Given the description of an element on the screen output the (x, y) to click on. 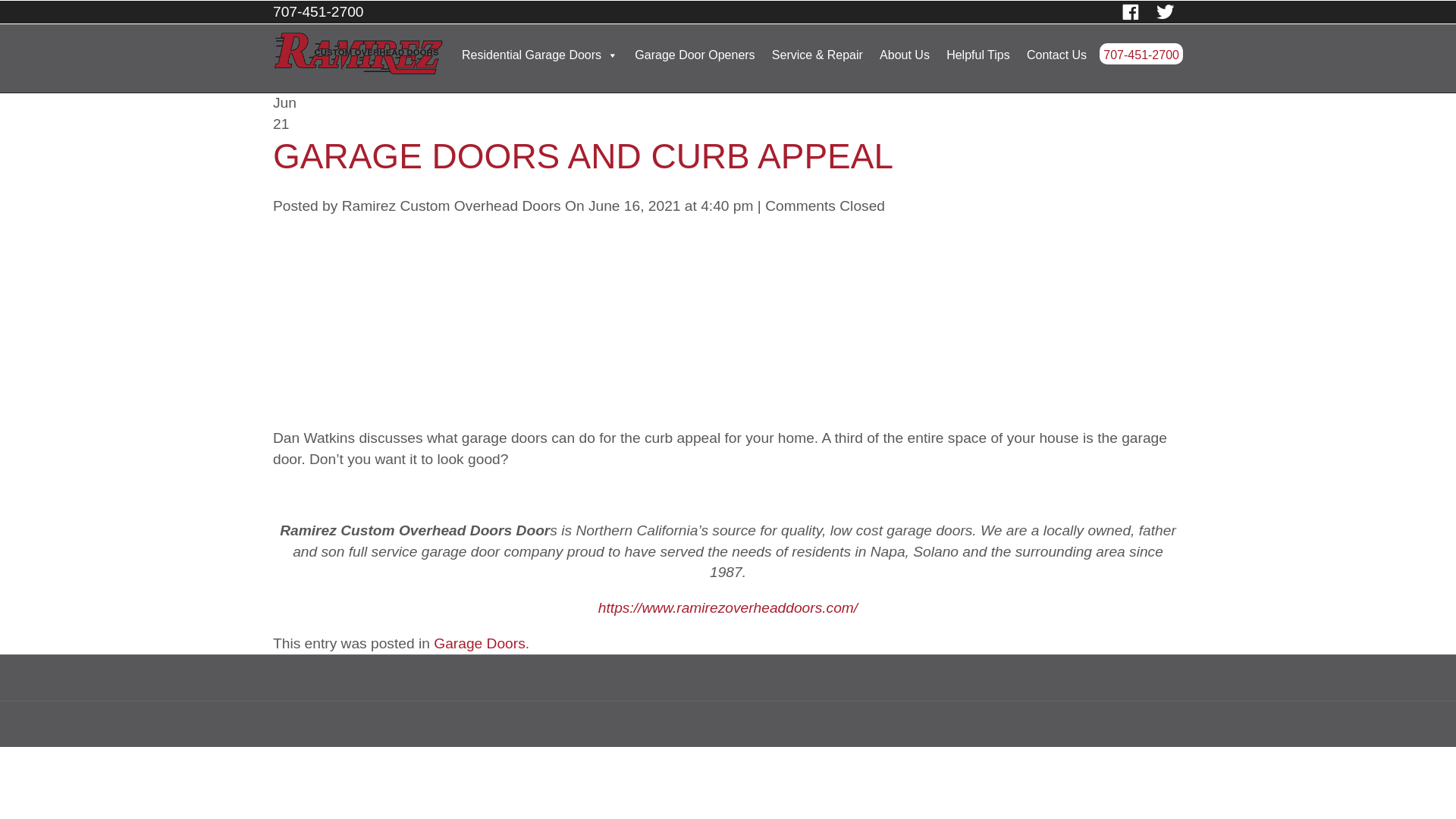
Helpful Tips (977, 53)
Residential Garage Doors (539, 53)
707-451-2700 (1140, 53)
Garage Doors (479, 643)
Click to Call (1140, 53)
Garage Door Openers (694, 53)
Contact Us (1056, 53)
707-451-2700 (318, 11)
About Us (904, 53)
